Given the description of an element on the screen output the (x, y) to click on. 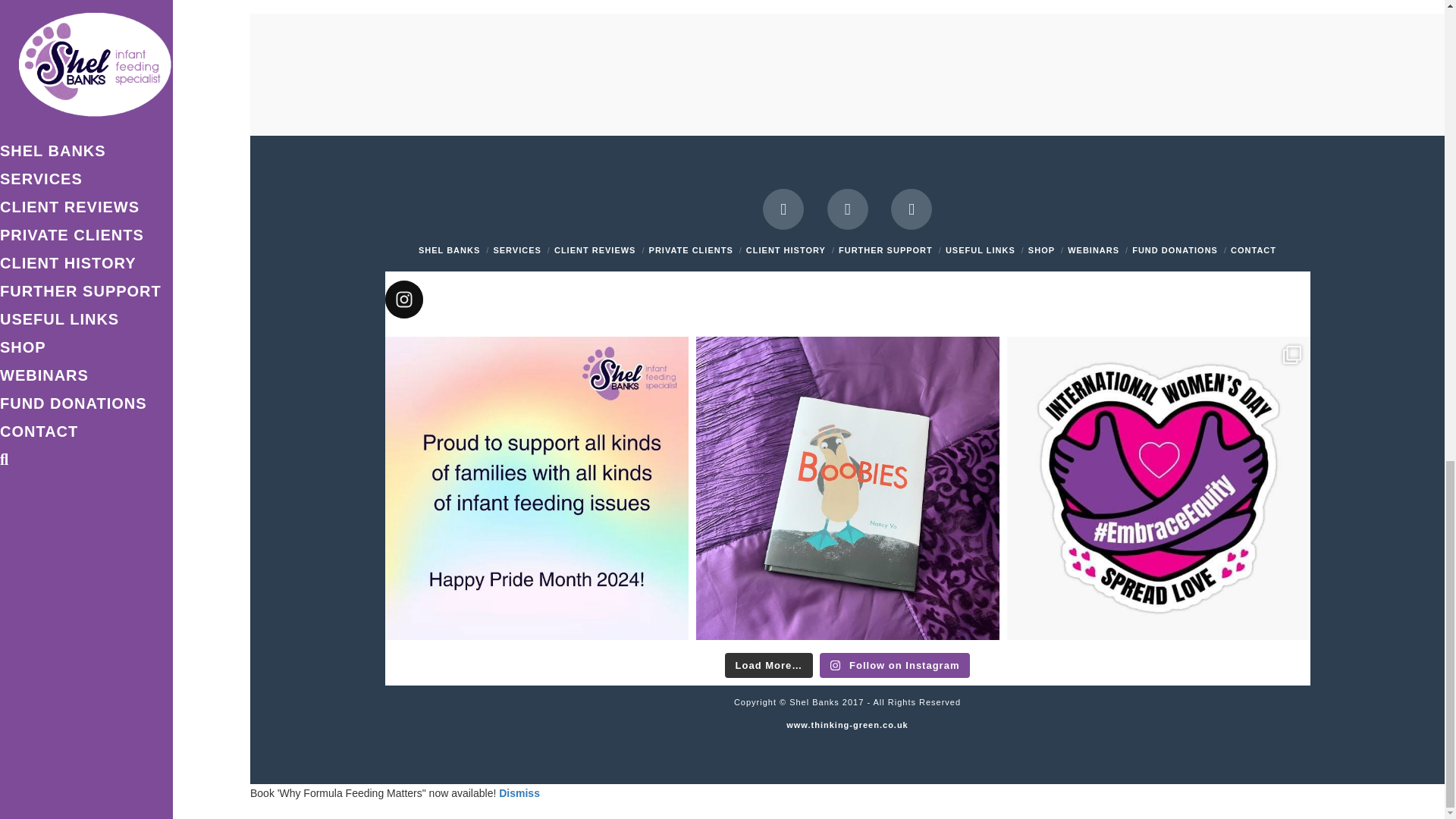
Twitter (847, 209)
Facebook (782, 209)
Instagram (911, 209)
